Given the description of an element on the screen output the (x, y) to click on. 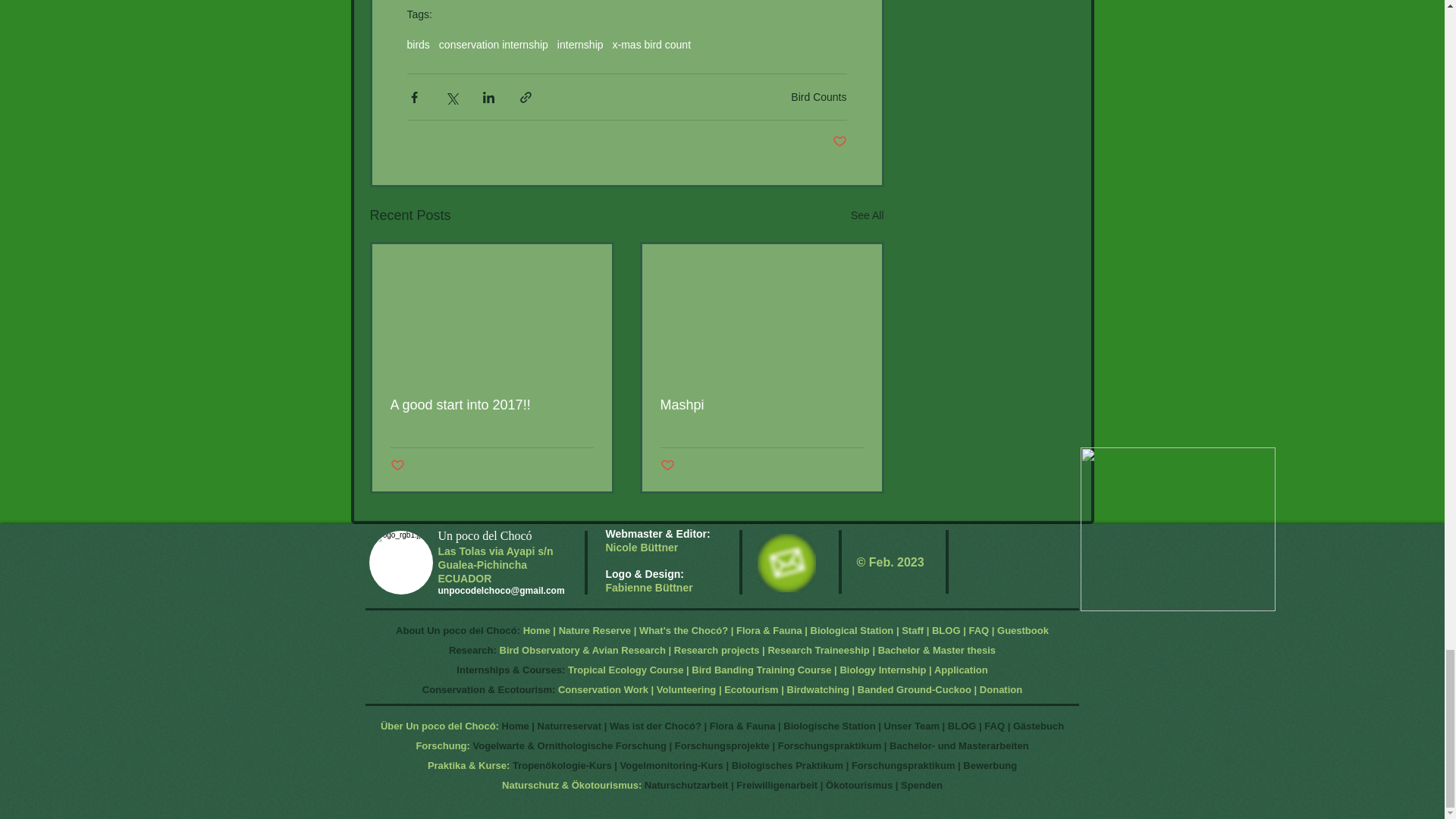
internship (580, 44)
Mashpi (761, 405)
Bird Counts (817, 96)
EMail (786, 562)
birds (417, 44)
See All (866, 215)
Post not marked as liked (839, 141)
Post not marked as liked (666, 465)
Post not marked as liked (397, 465)
conservation internship (493, 44)
